Given the description of an element on the screen output the (x, y) to click on. 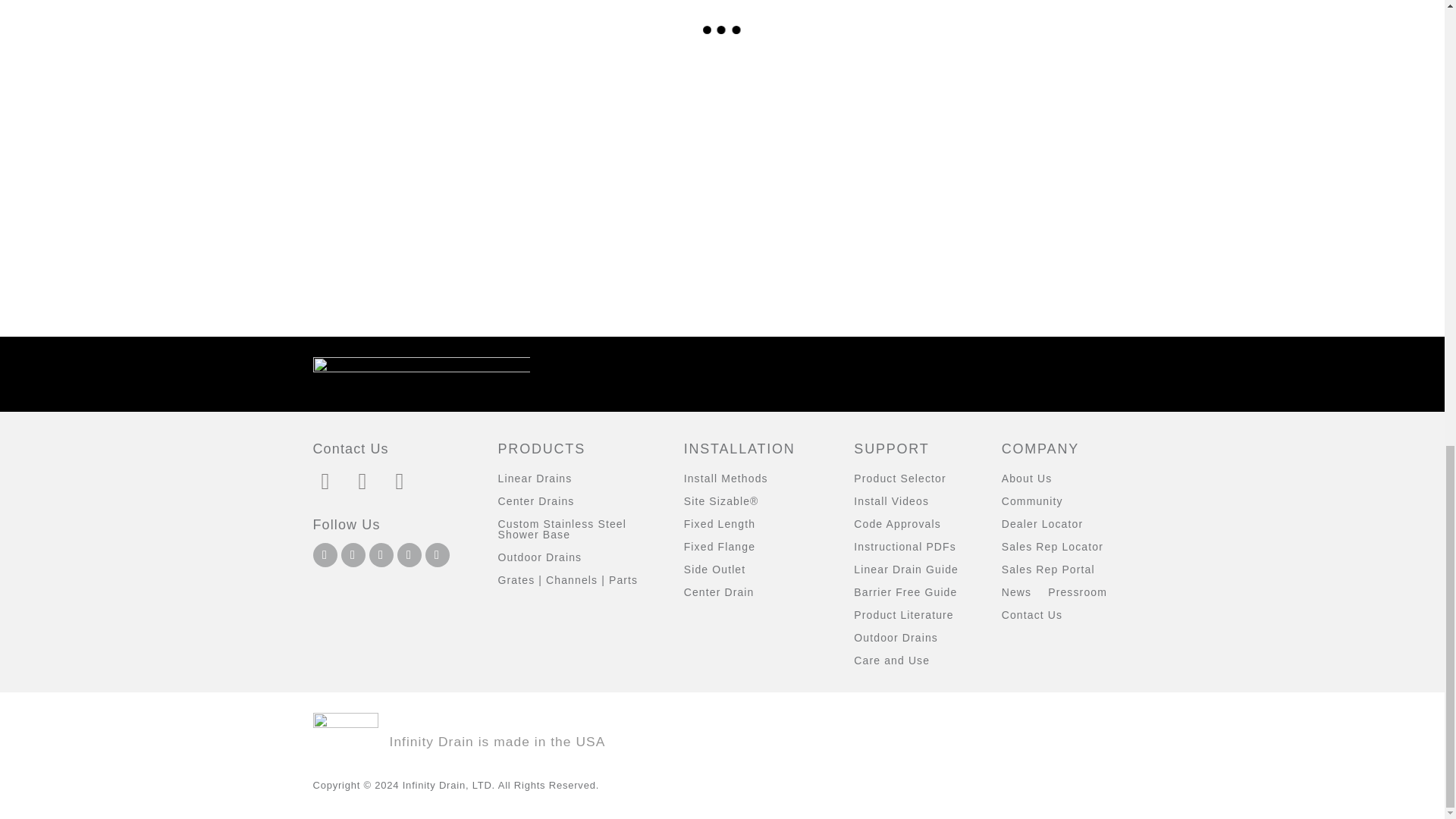
TWA-Room (617, 106)
12-TWA-Hotel-Model-Room (409, 150)
TWA-Infinity-Drain-2 (1035, 106)
TWA-Infinity-Drain (826, 106)
TWA-Room (617, 150)
TWA-Infinity-Drain-2 (1035, 150)
TWA-Infinity-Drain (826, 150)
12-TWA-Hotel-Model-Room (409, 106)
Follow on Instagram (324, 554)
